Given the description of an element on the screen output the (x, y) to click on. 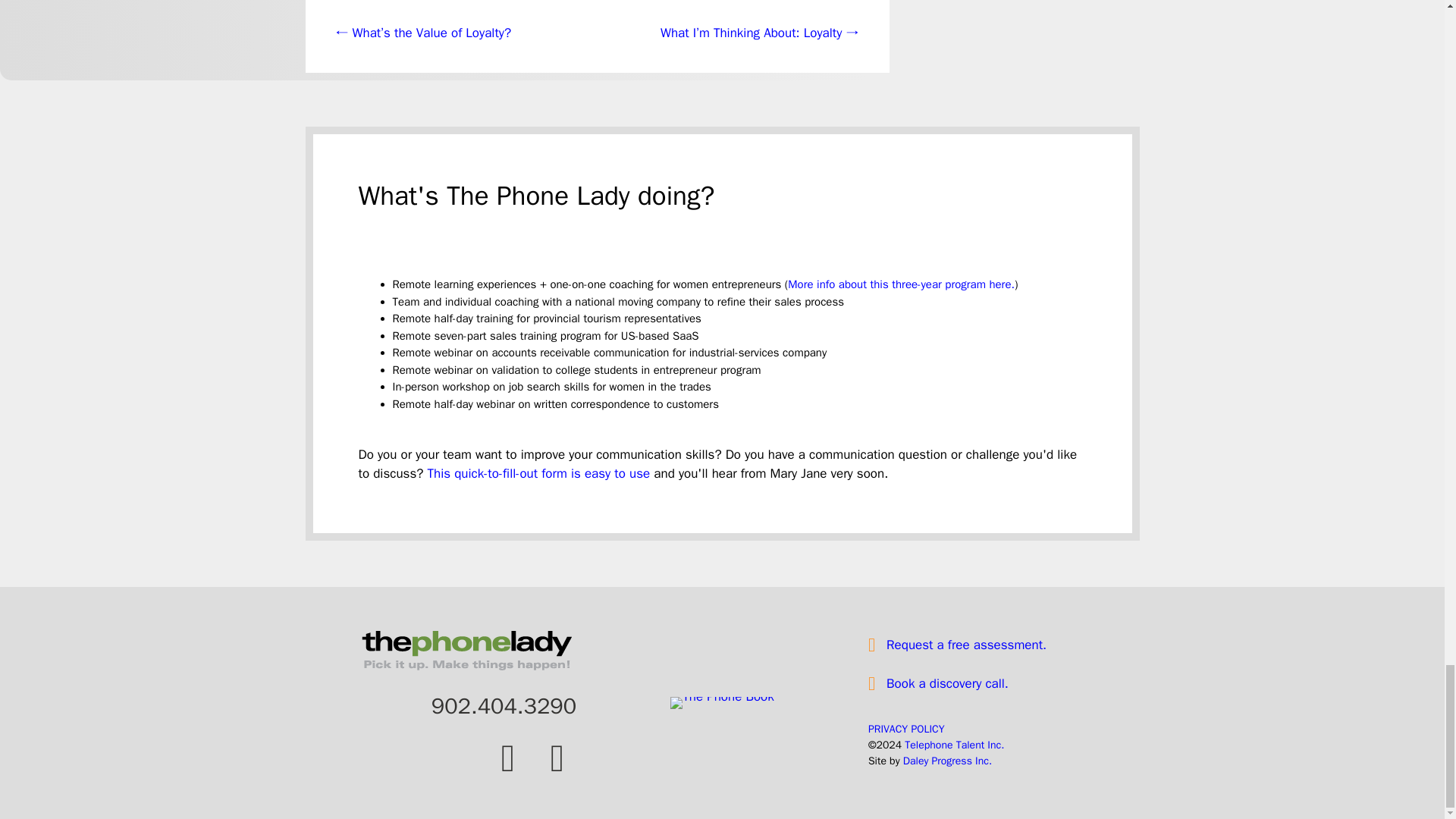
The Phone Book border (721, 702)
